Given the description of an element on the screen output the (x, y) to click on. 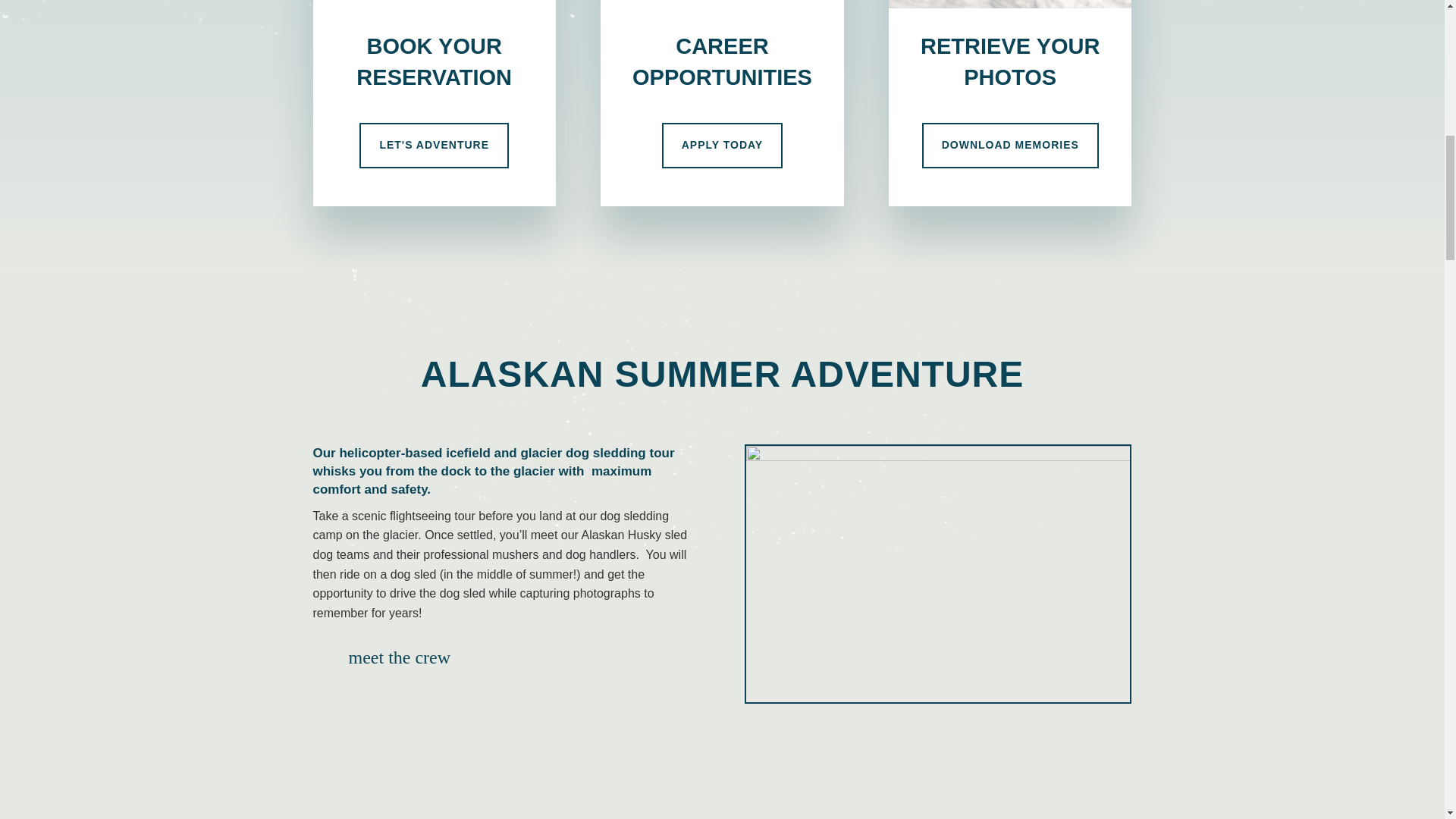
meet the crew (400, 657)
AIE Website 14 copy (721, 4)
AIE Website 20 (1009, 4)
DOWNLOAD MEMORIES (1010, 145)
APPLY TODAY (722, 145)
LET'S ADVENTURE (433, 145)
AIE Website 15 copy (433, 4)
